Given the description of an element on the screen output the (x, y) to click on. 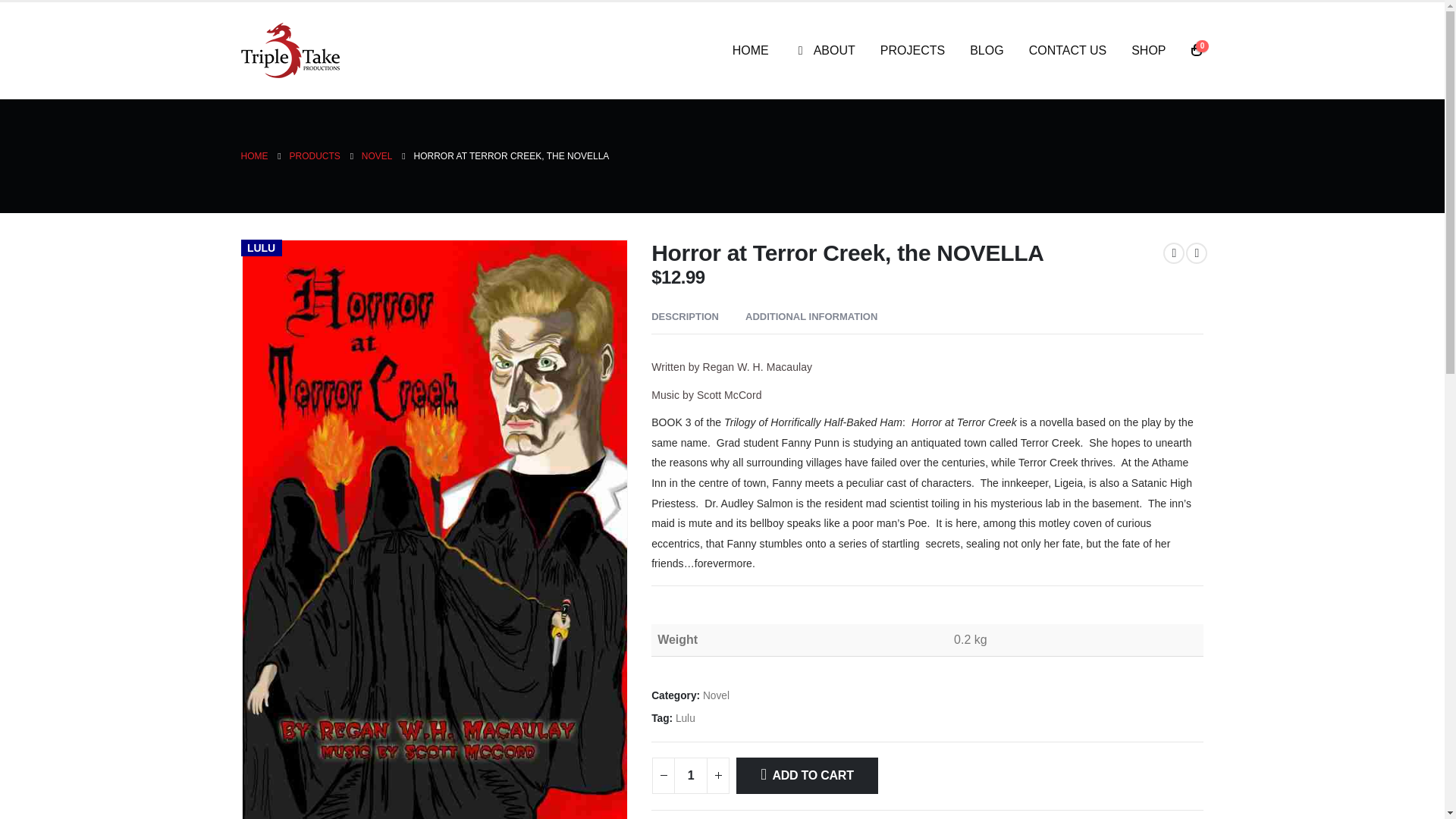
NOVEL (377, 156)
ADD TO CART (806, 775)
Novel (716, 695)
BLOG (986, 49)
HOME (254, 156)
1 (690, 775)
CONTACT US (1067, 49)
PRODUCTS (314, 156)
Triple Take Productions -  (290, 49)
PROJECTS (911, 49)
Lulu (685, 718)
SHOP (1148, 49)
ABOUT (824, 49)
Go to Home Page (254, 156)
HOME (750, 49)
